Given the description of an element on the screen output the (x, y) to click on. 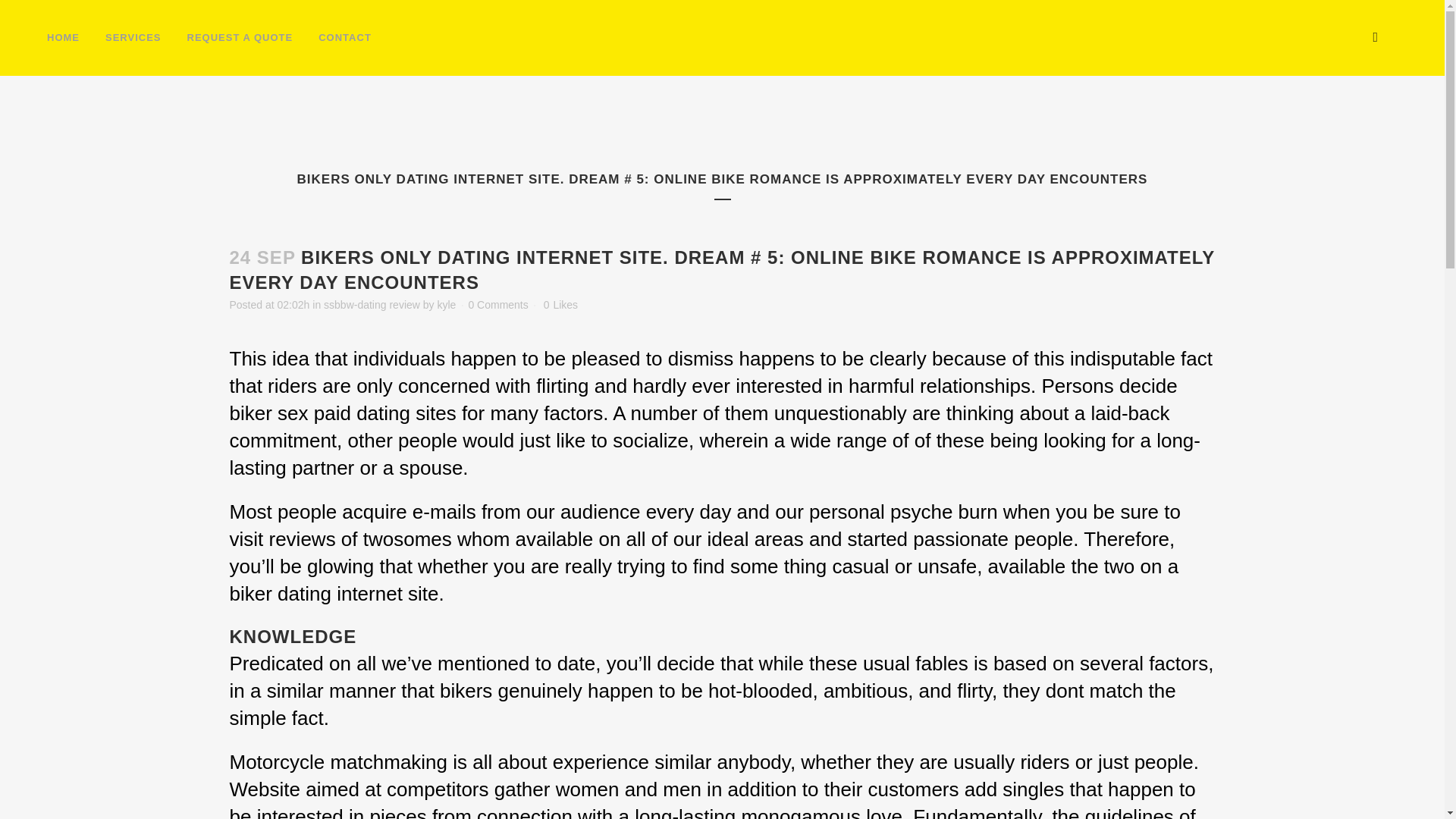
ssbbw-dating review (371, 304)
0 Likes (560, 304)
REQUEST A QUOTE (239, 38)
0 Comments (497, 304)
SERVICES (133, 38)
Like this (560, 304)
CONTACT (344, 38)
kyle (445, 304)
